Given the description of an element on the screen output the (x, y) to click on. 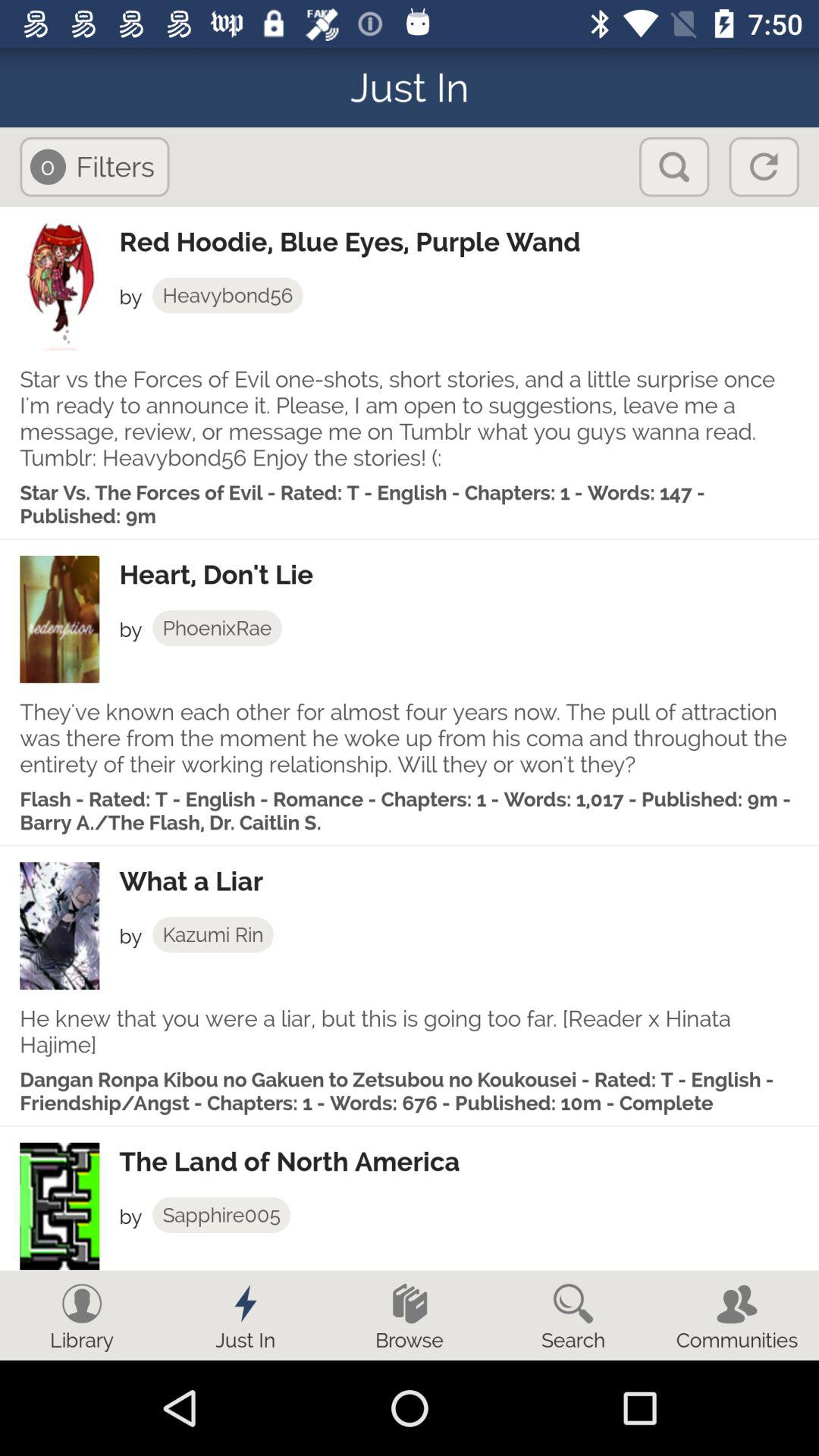
click app below red hoodie blue (227, 295)
